Given the description of an element on the screen output the (x, y) to click on. 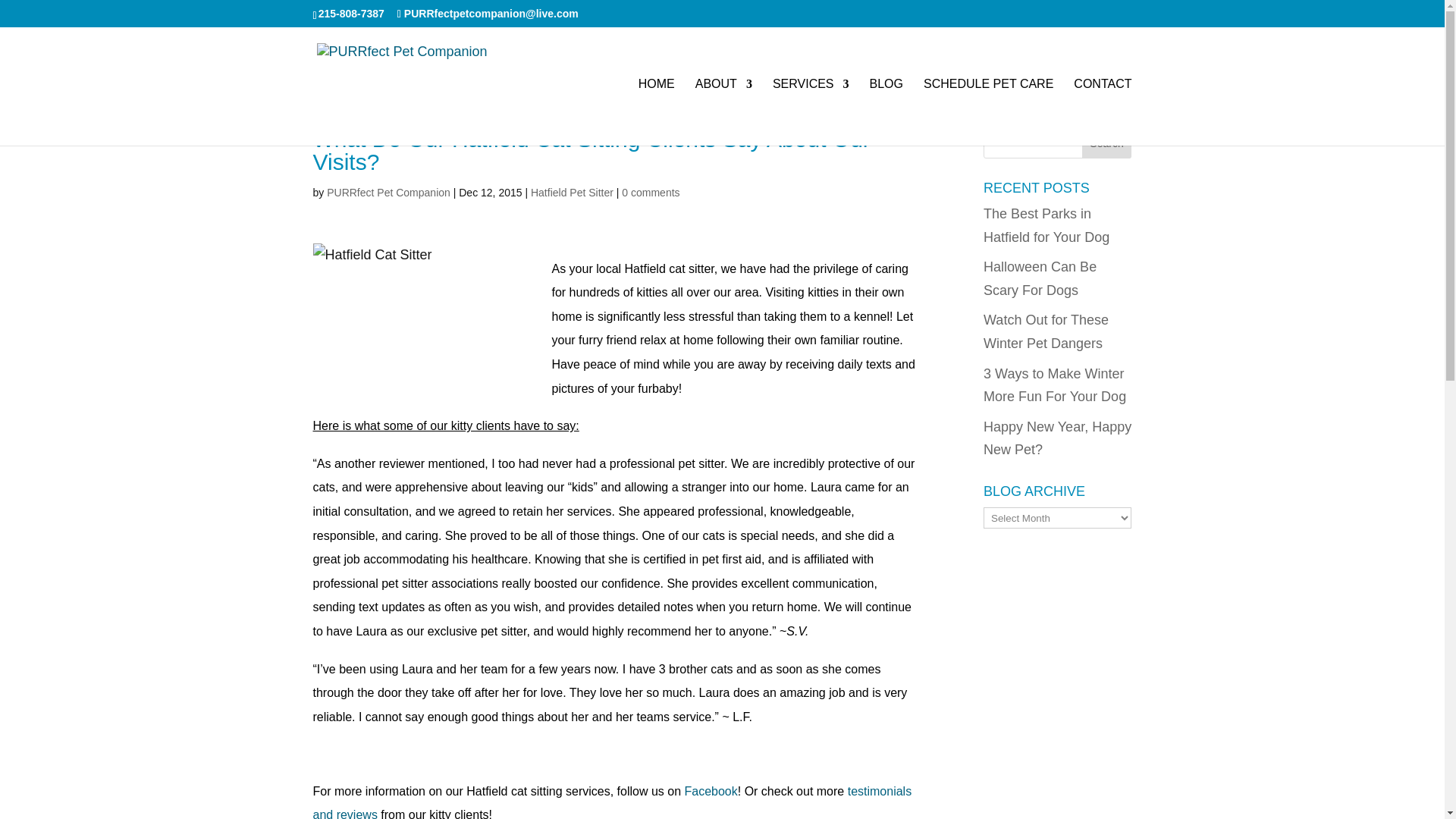
Hatfield Pet Sitter (571, 192)
Search (1106, 142)
testimonials and reviews (612, 801)
Halloween Can Be Scary For Dogs (1040, 278)
Happy New Year, Happy New Pet? (1057, 438)
Search (1106, 142)
SCHEDULE PET CARE (987, 111)
PURRfect Pet Companion (387, 192)
3 Ways to Make Winter More Fun For Your Dog (1054, 385)
Watch Out for These Winter Pet Dangers (1046, 331)
